Given the description of an element on the screen output the (x, y) to click on. 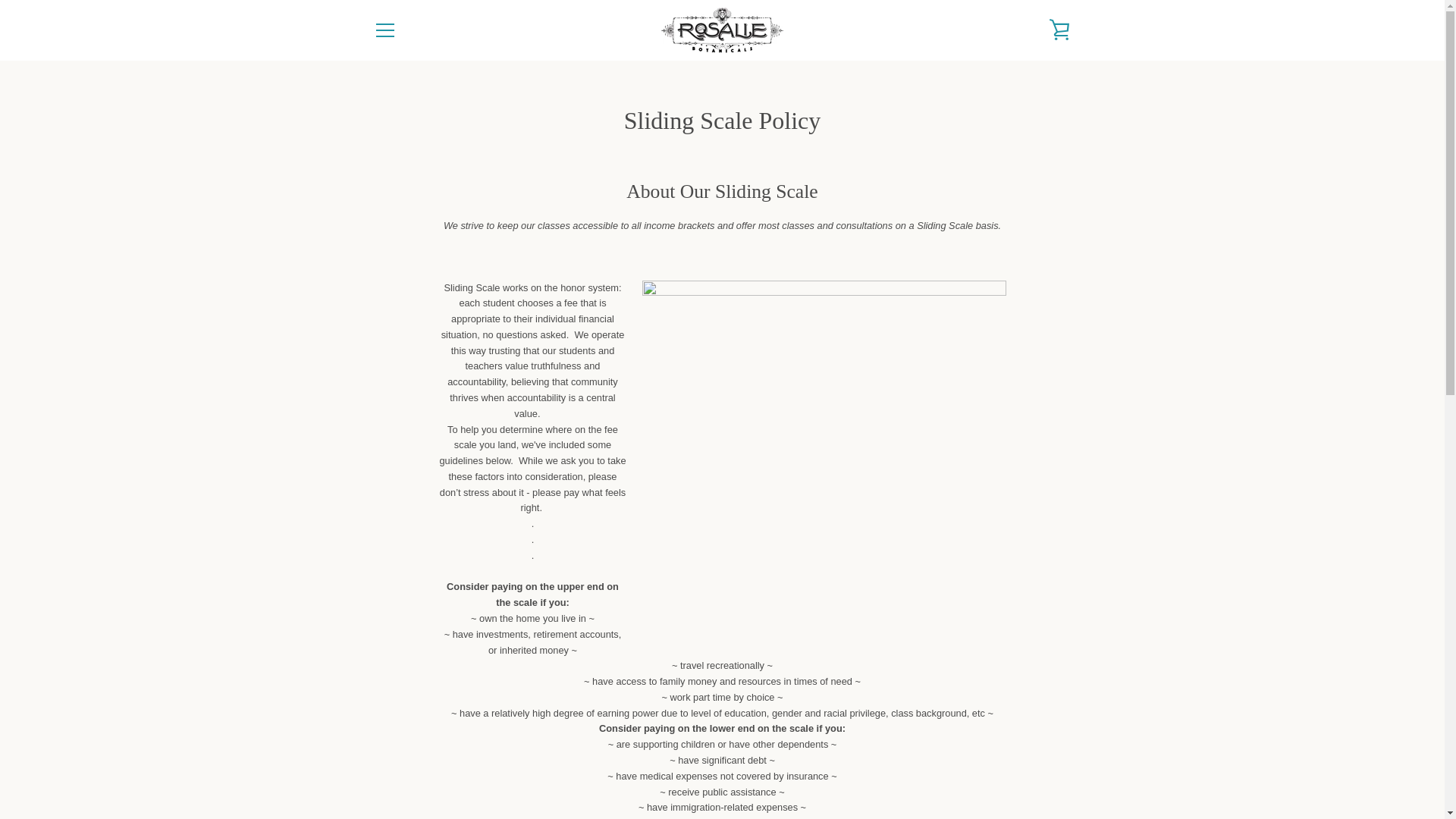
VIEW CART (1059, 30)
MENU (384, 30)
